Given the description of an element on the screen output the (x, y) to click on. 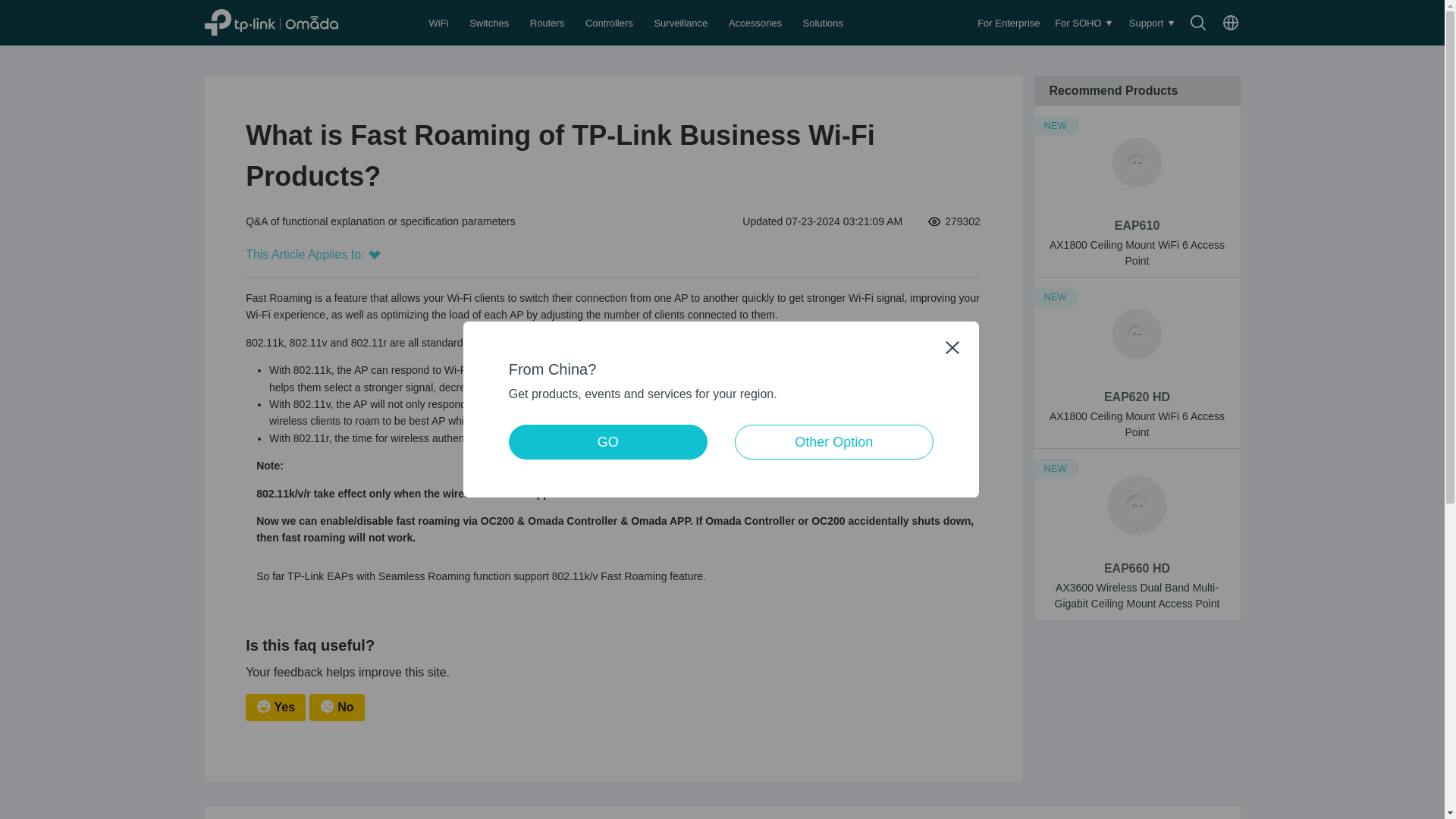
WiFi (440, 22)
Controllers (609, 22)
Surveillance (681, 22)
Solutions (824, 22)
Switches (490, 22)
TP-Link, Reliably Smart (288, 22)
Routers (548, 22)
Accessories (756, 22)
Choose location (1230, 22)
Search icon (1198, 22)
